Given the description of an element on the screen output the (x, y) to click on. 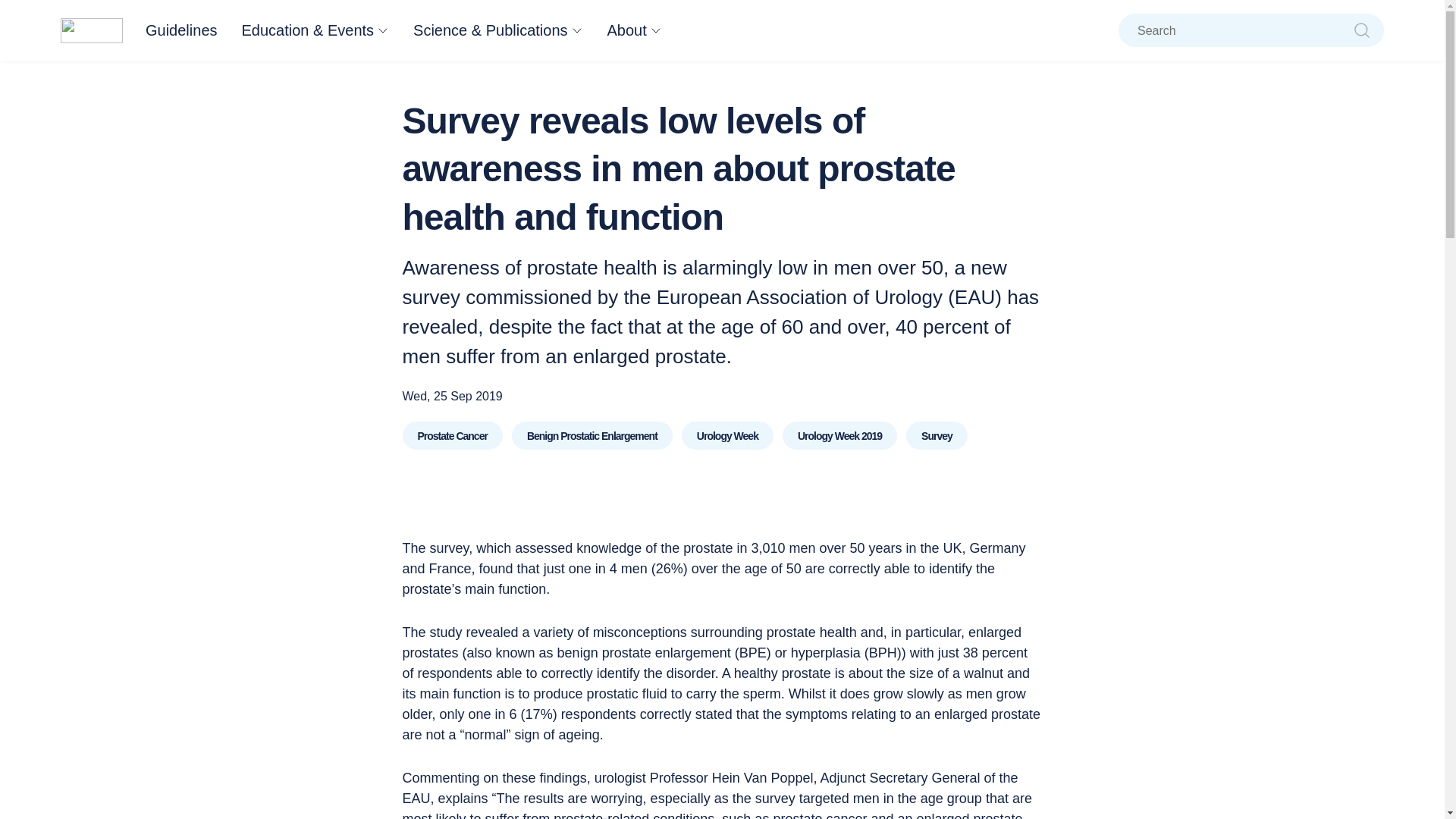
Guidelines (180, 29)
Benign Prostatic Enlargement (592, 435)
Urology Week (727, 435)
Survey (936, 435)
Urology Week 2019 (839, 435)
Prostate Cancer (451, 435)
